Given the description of an element on the screen output the (x, y) to click on. 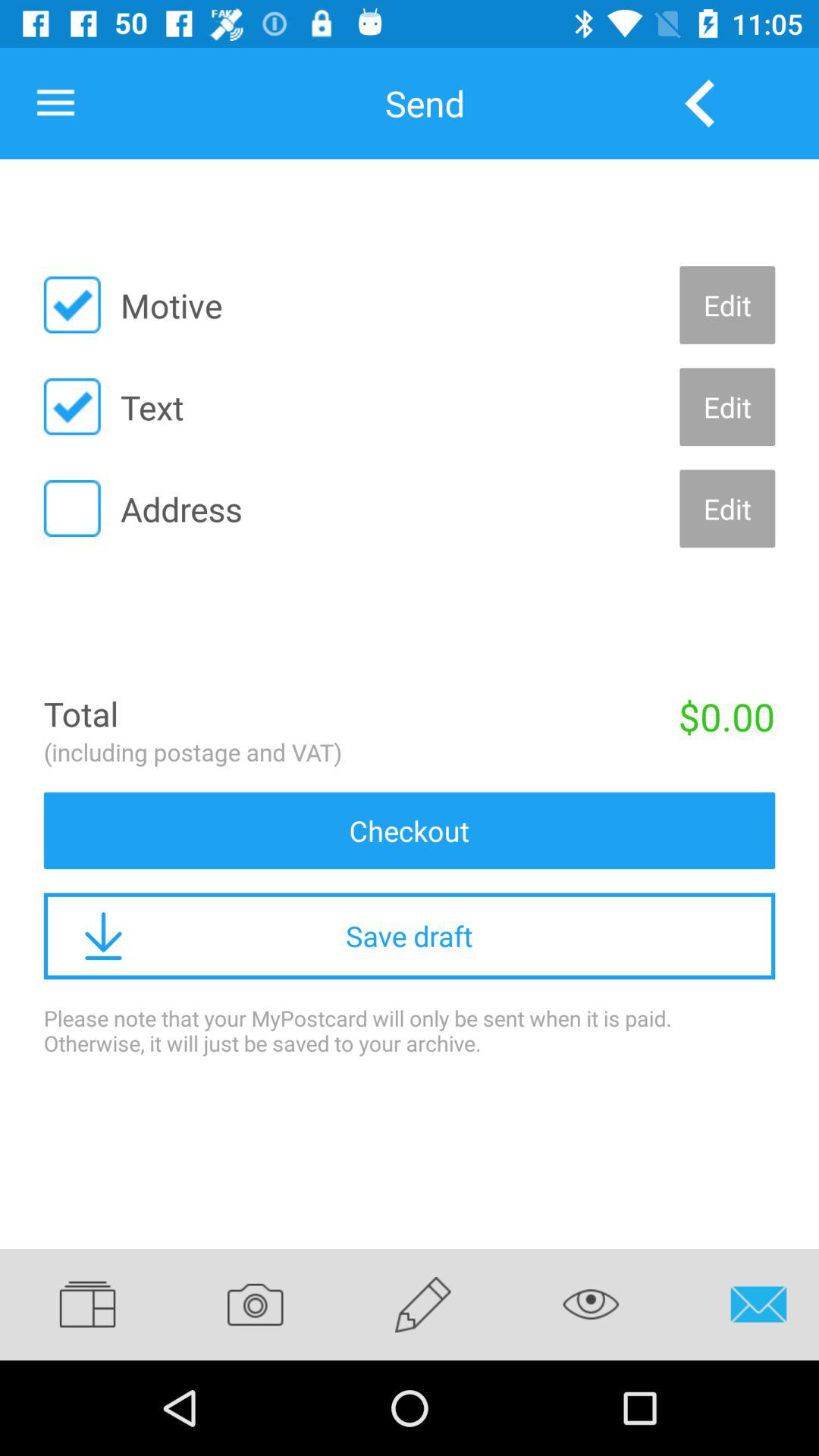
select item below please note that item (101, 1304)
